Given the description of an element on the screen output the (x, y) to click on. 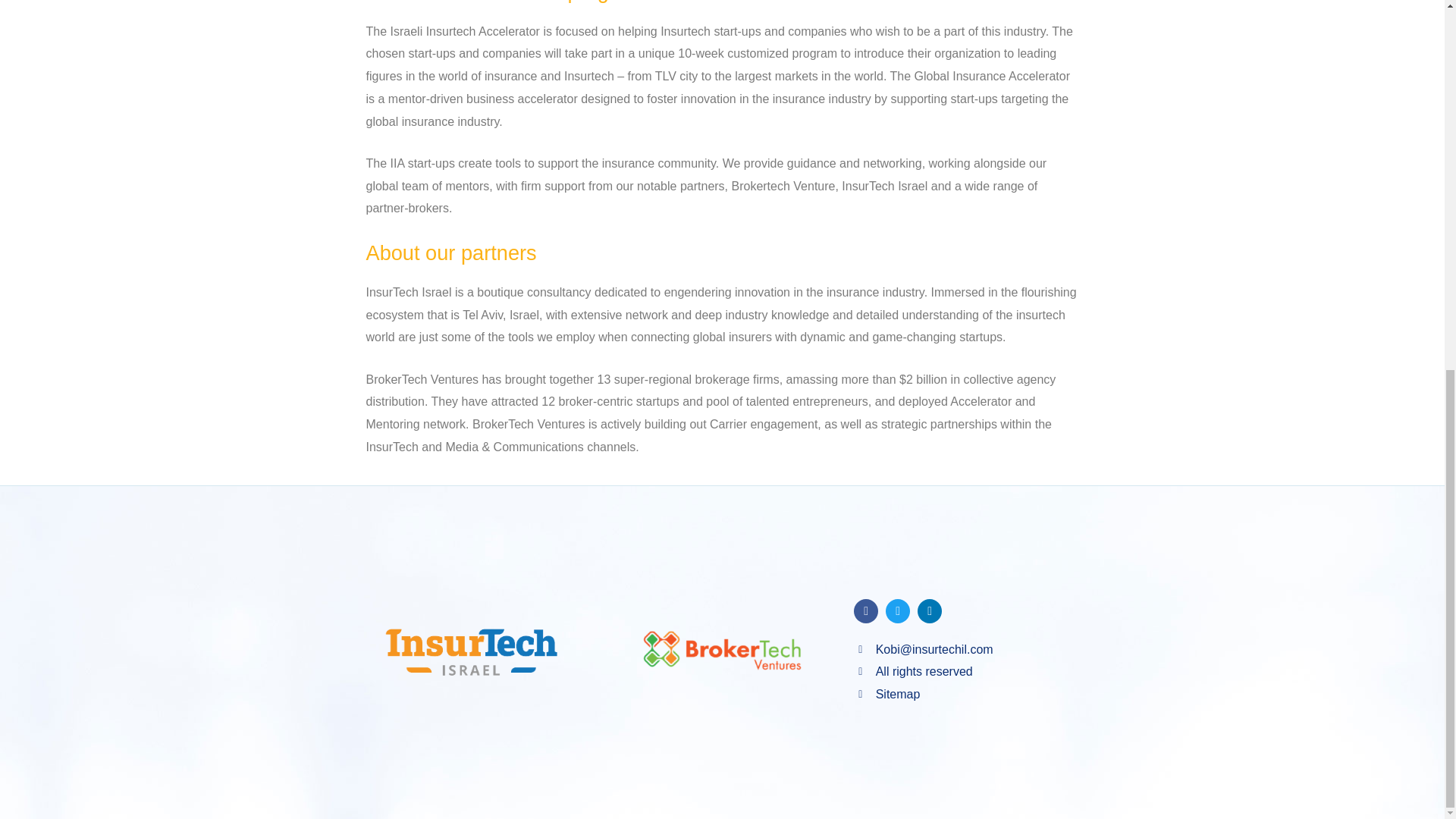
Facebook (865, 610)
Twitter (897, 610)
Sitemap (979, 694)
Linkedin (929, 610)
